Given the description of an element on the screen output the (x, y) to click on. 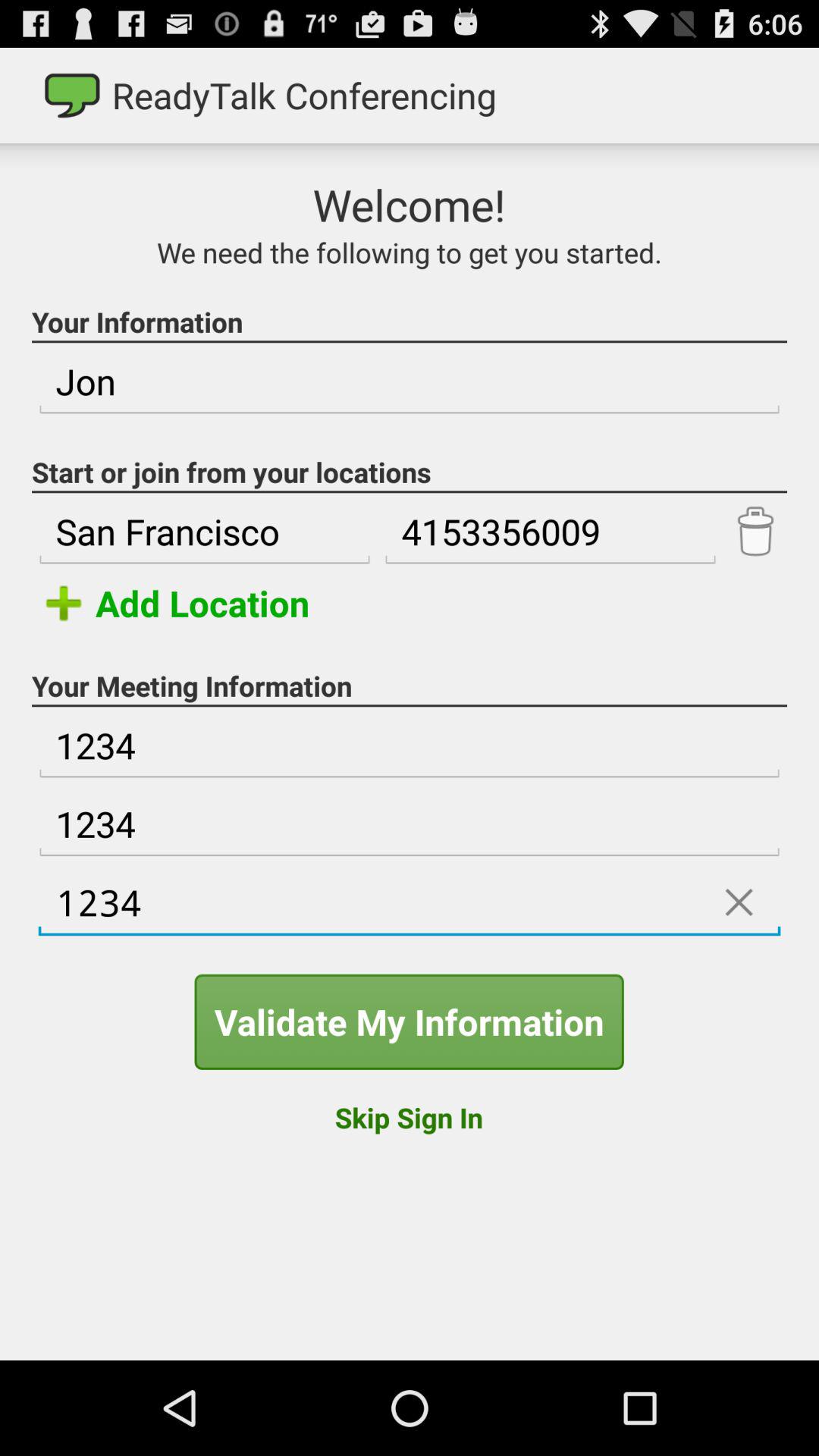
launch the item next to san francisco (550, 532)
